Given the description of an element on the screen output the (x, y) to click on. 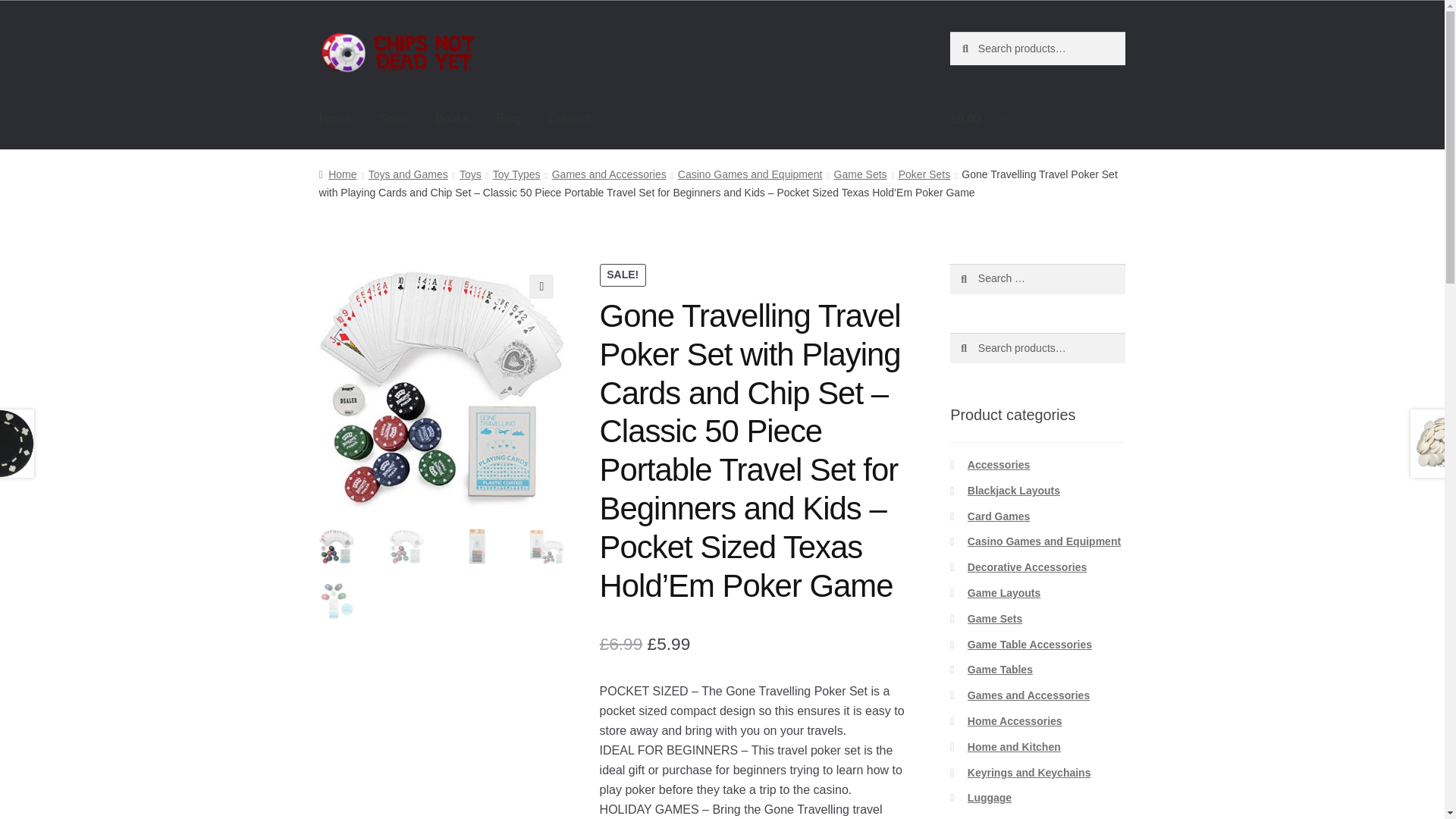
Home (337, 174)
Toys and Games (408, 174)
Books (451, 118)
Game Sets (860, 174)
Games and Accessories (608, 174)
Poker Sets (924, 174)
51n4ocw6fAL.jpg (686, 386)
Toys (470, 174)
View your shopping cart (1037, 118)
Contact (568, 118)
51n4ocw6fAL.jpg (441, 386)
Casino Games and Equipment (750, 174)
